Given the description of an element on the screen output the (x, y) to click on. 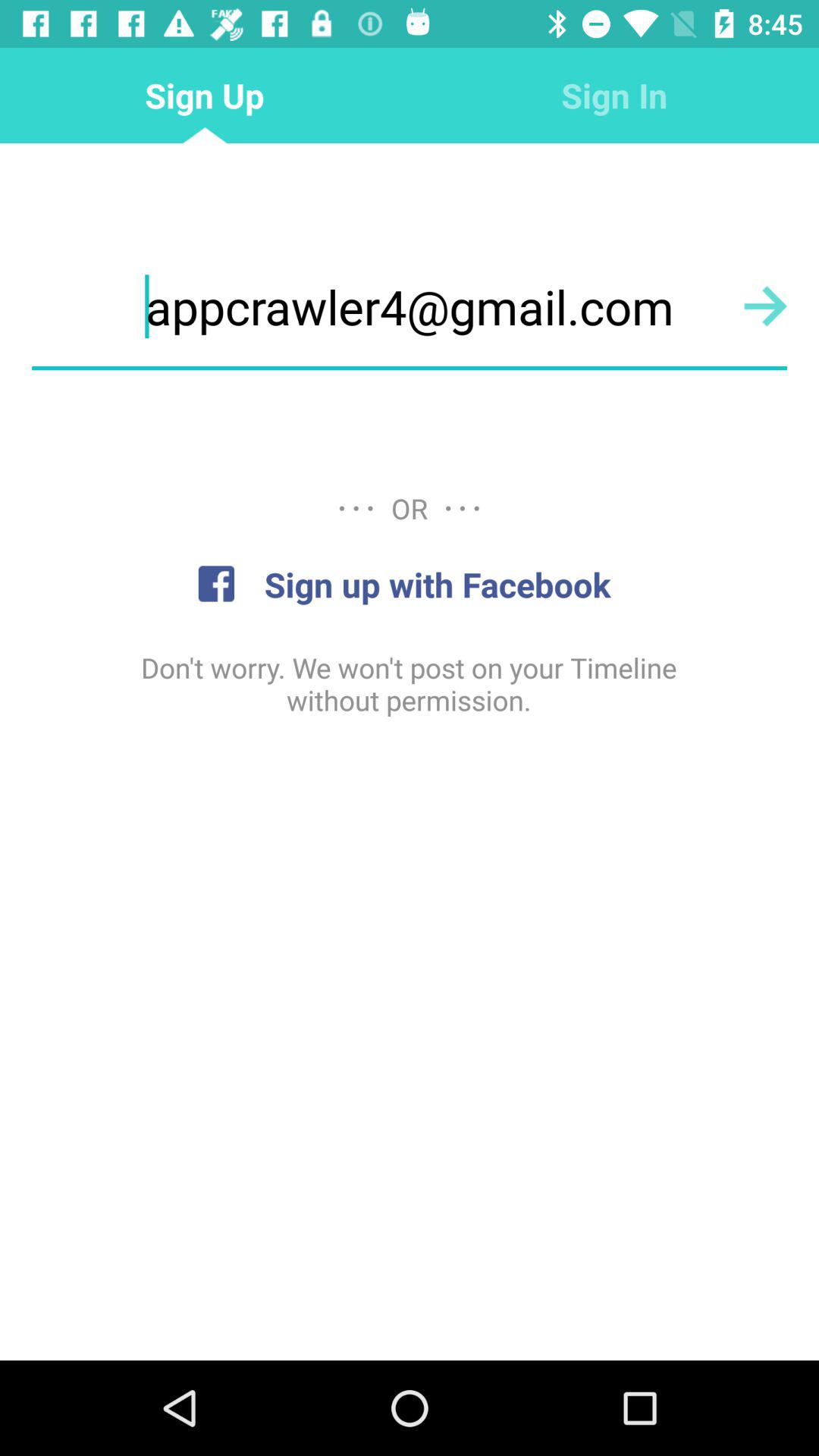
tap the sign in (614, 95)
